Given the description of an element on the screen output the (x, y) to click on. 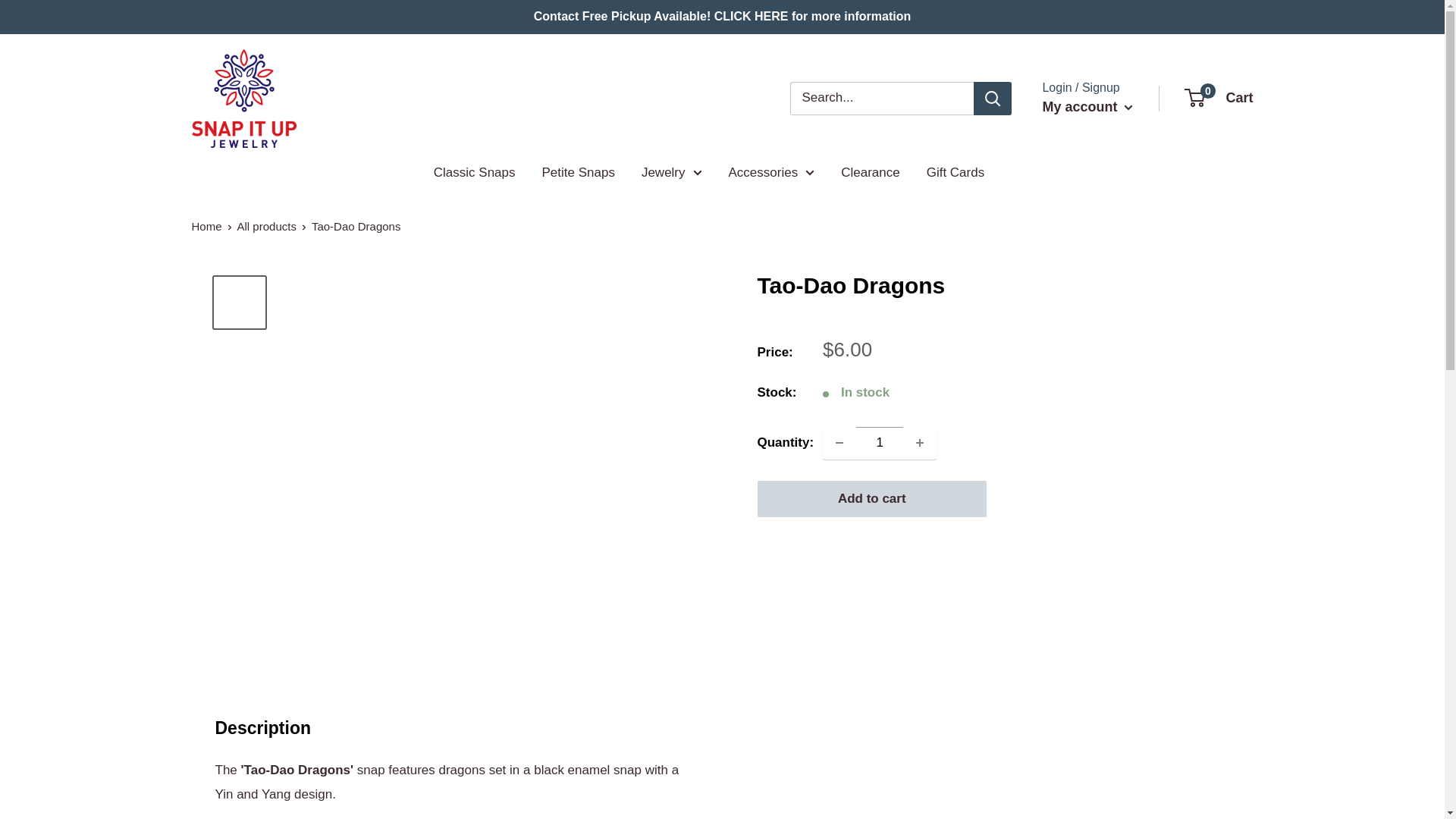
Decrease quantity by 1 (840, 442)
1 (880, 442)
Increase quantity by 1 (920, 442)
